Given the description of an element on the screen output the (x, y) to click on. 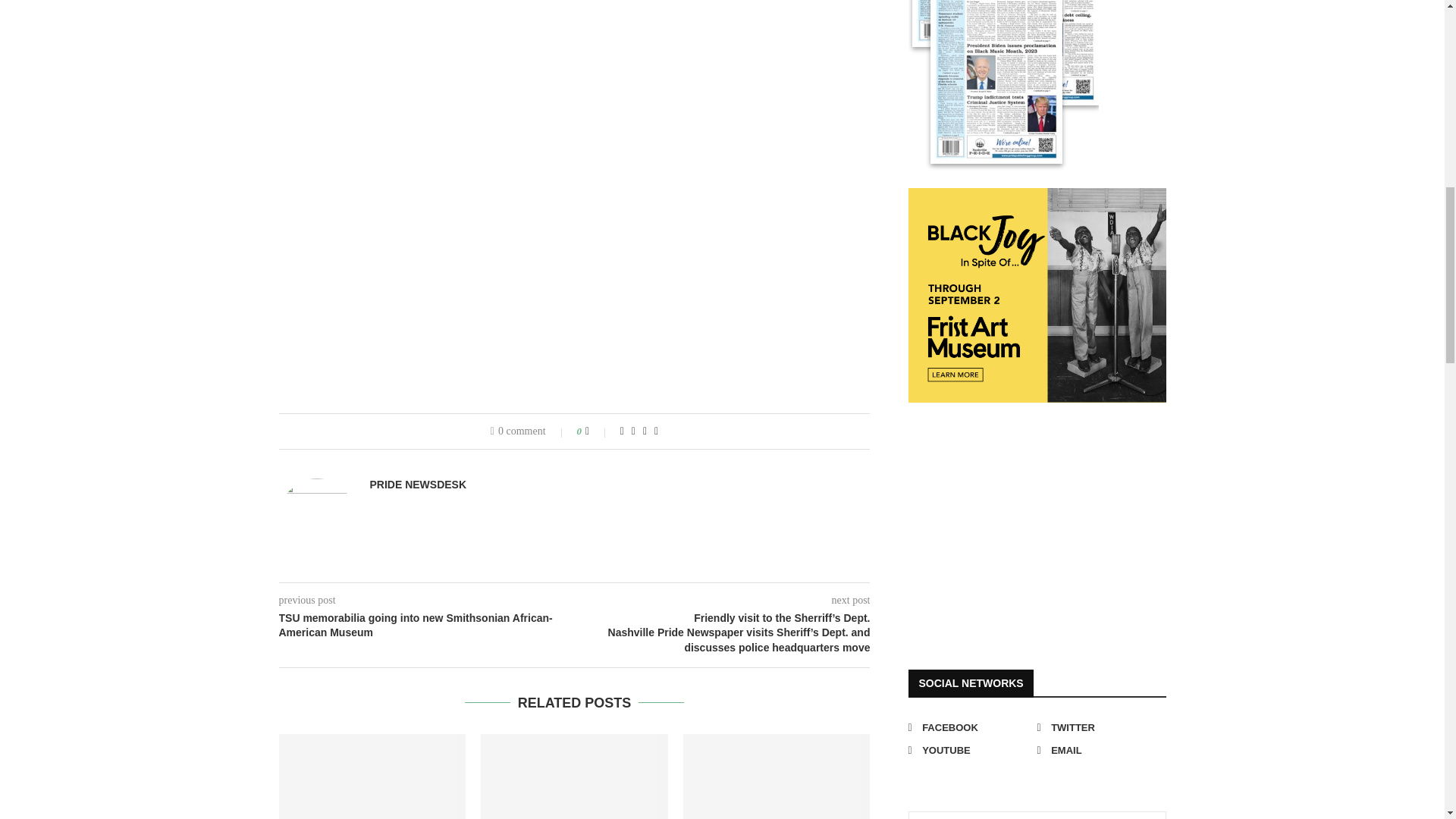
Author PRIDE Newsdesk (418, 484)
Like (597, 431)
advertisement (1021, 521)
